Given the description of an element on the screen output the (x, y) to click on. 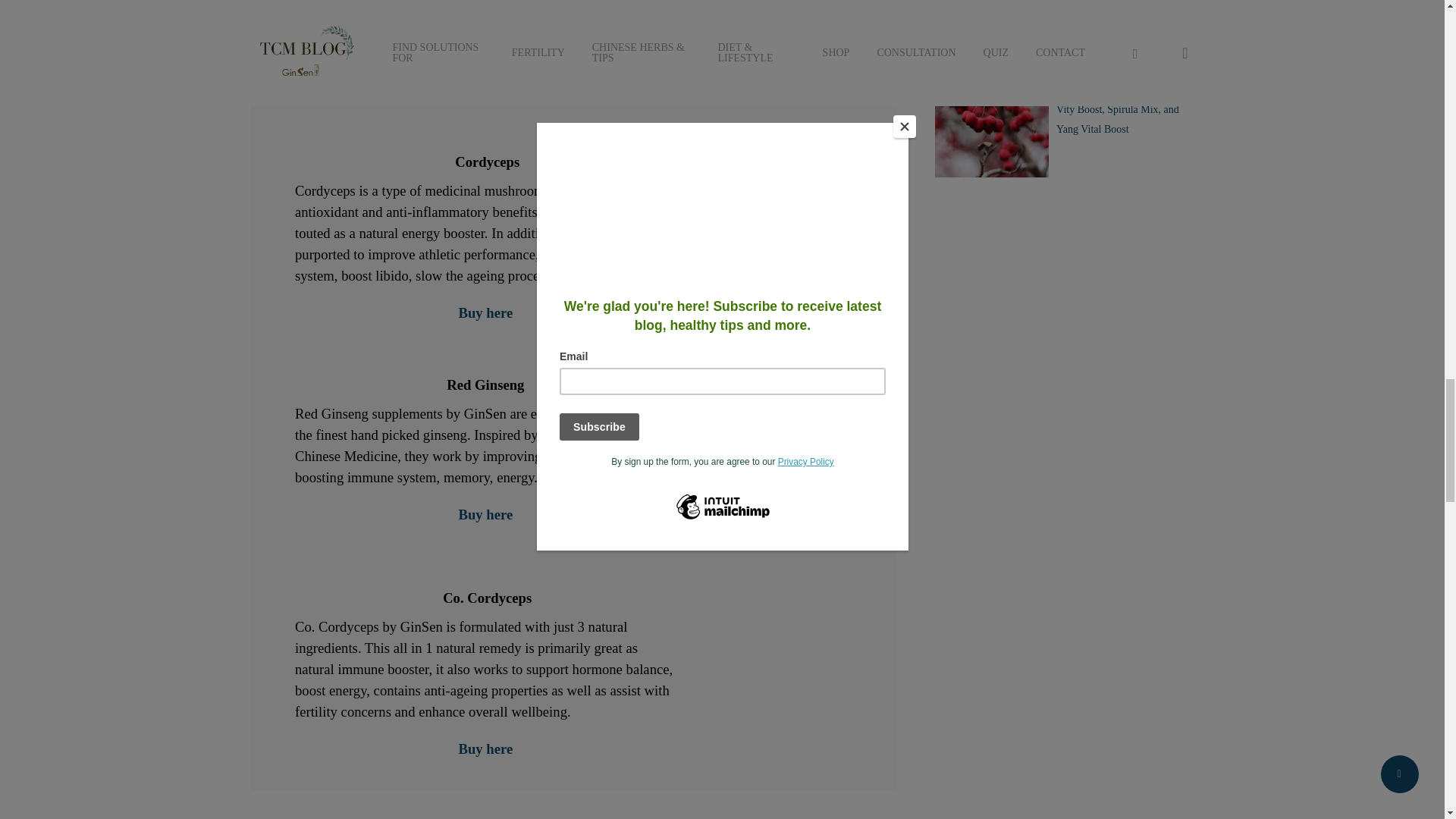
Advertisement (1063, 588)
